Given the description of an element on the screen output the (x, y) to click on. 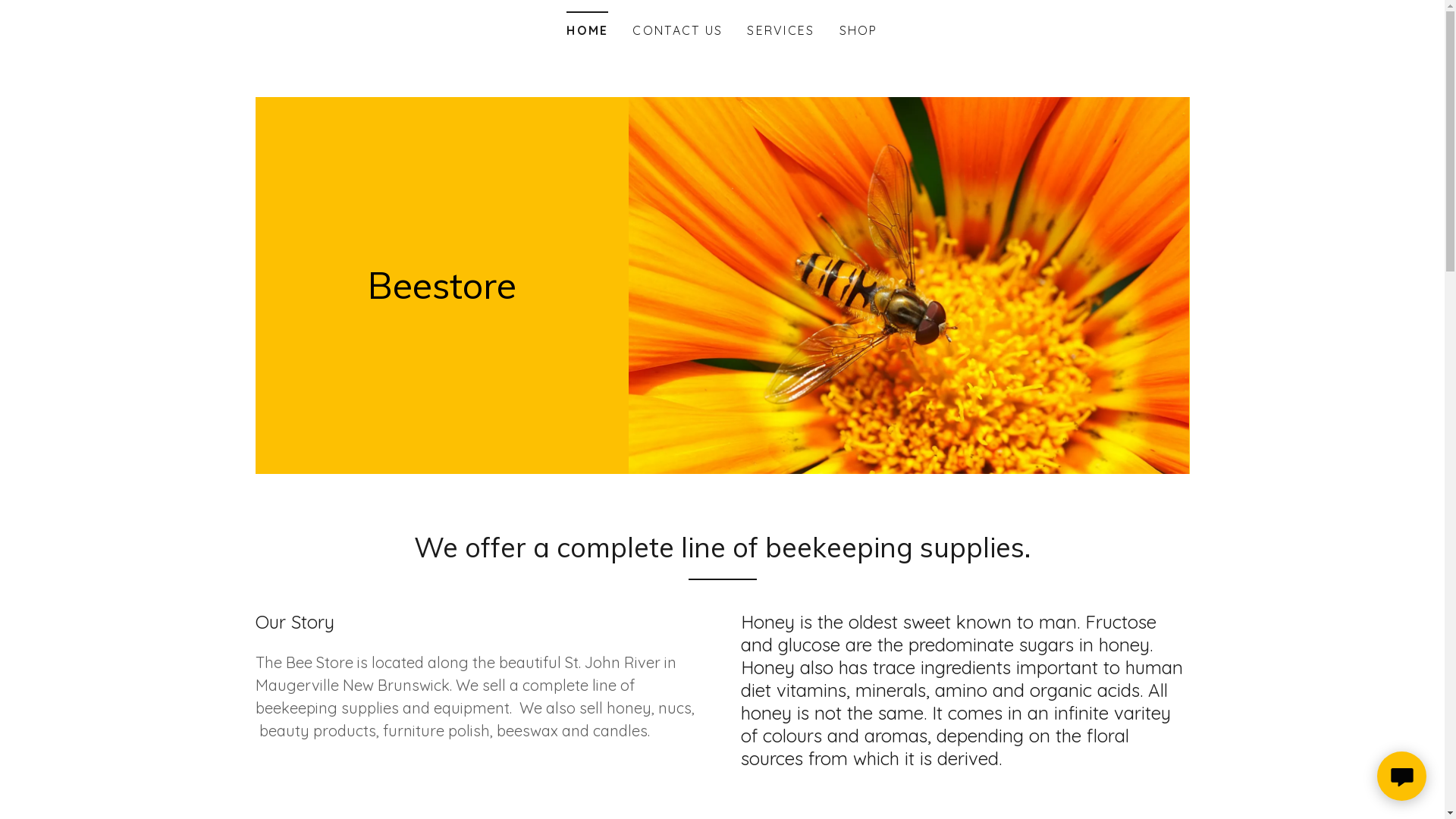
SHOP Element type: text (858, 29)
HOME Element type: text (587, 25)
CONTACT US Element type: text (677, 29)
SERVICES Element type: text (780, 29)
Beestore Element type: text (441, 293)
